Given the description of an element on the screen output the (x, y) to click on. 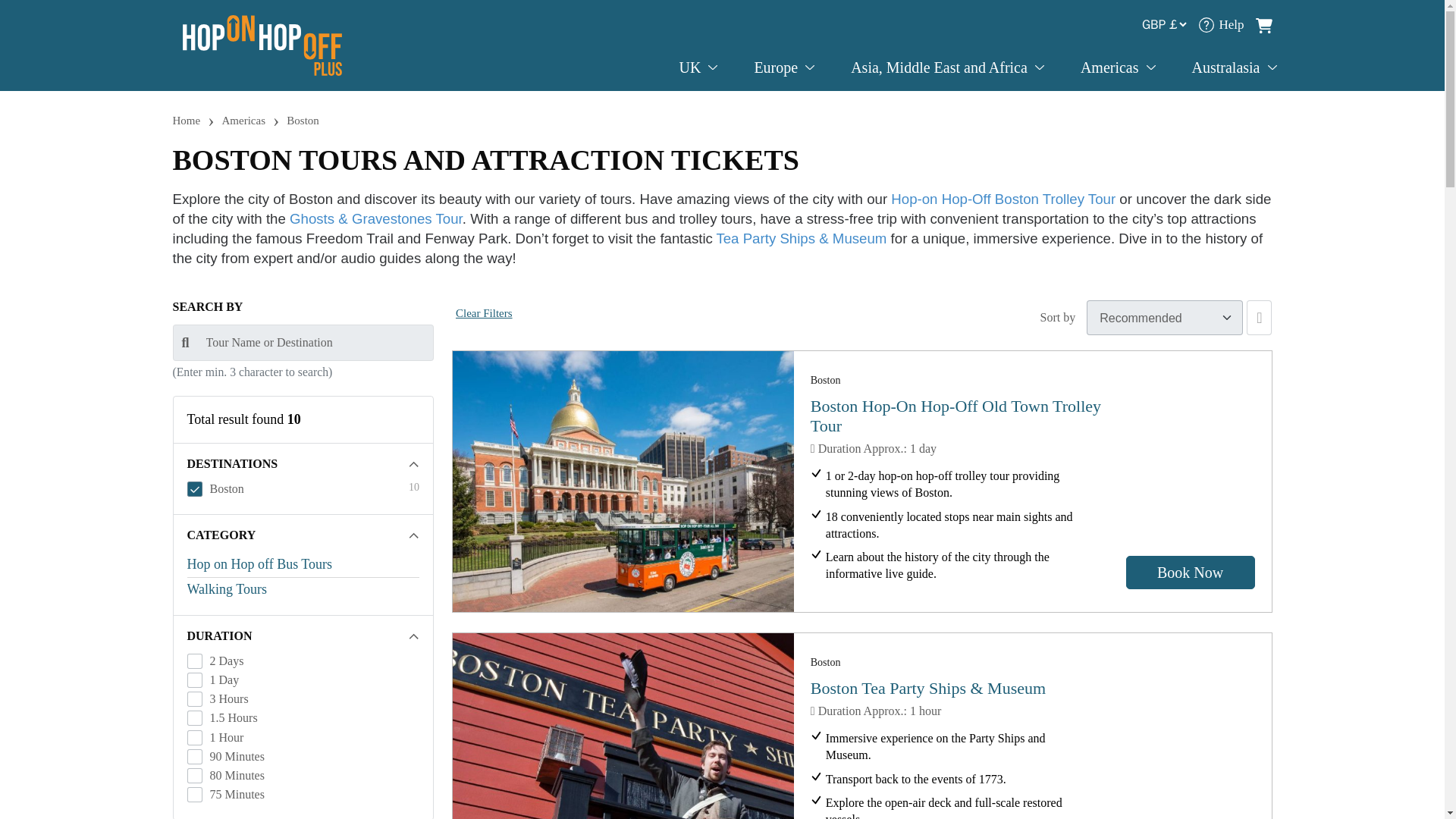
Help (1220, 24)
UK (698, 67)
Hop On Hop Off Plus (262, 43)
Europe (783, 67)
